Given the description of an element on the screen output the (x, y) to click on. 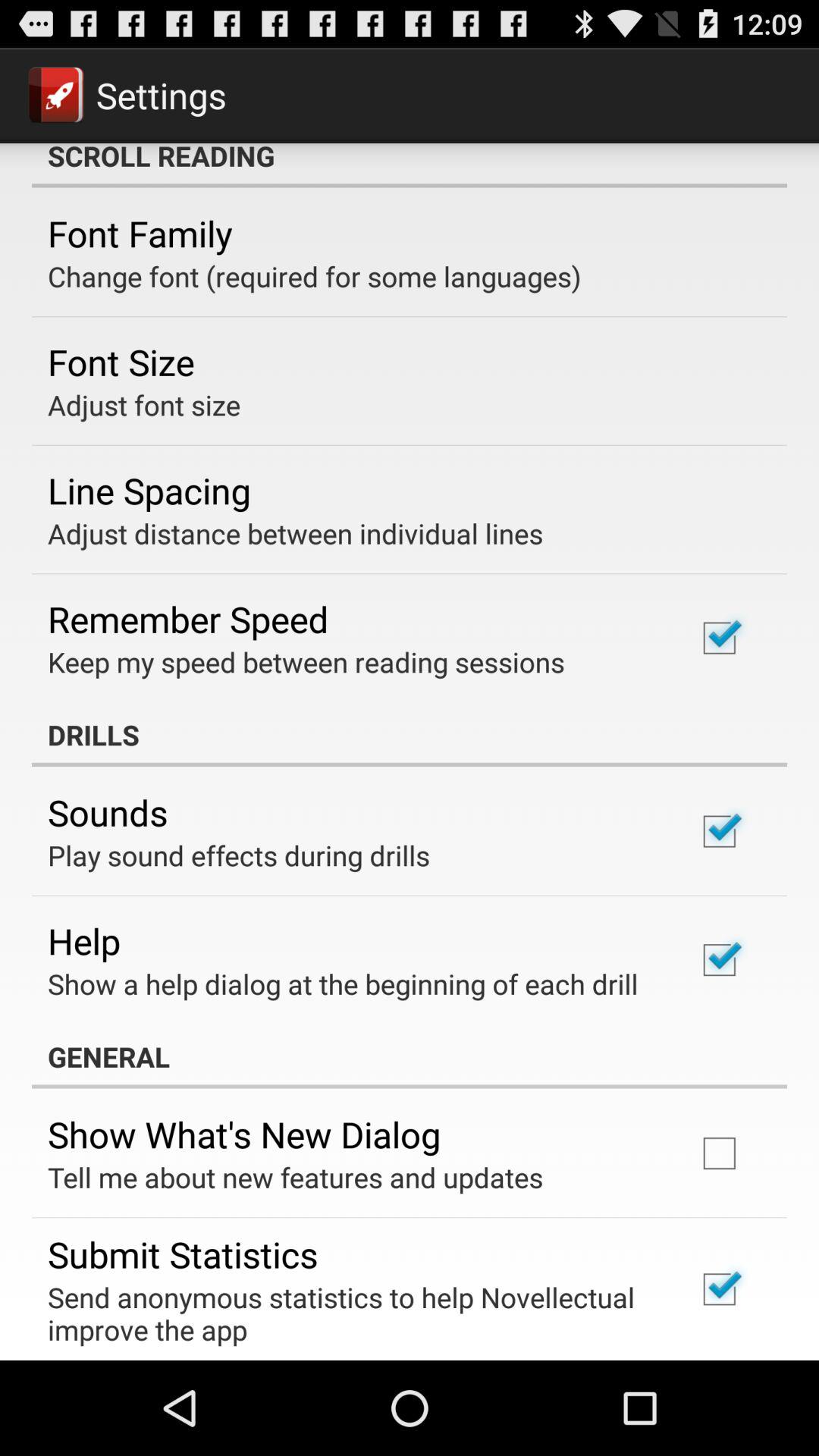
turn on item above the keep my speed app (187, 618)
